Given the description of an element on the screen output the (x, y) to click on. 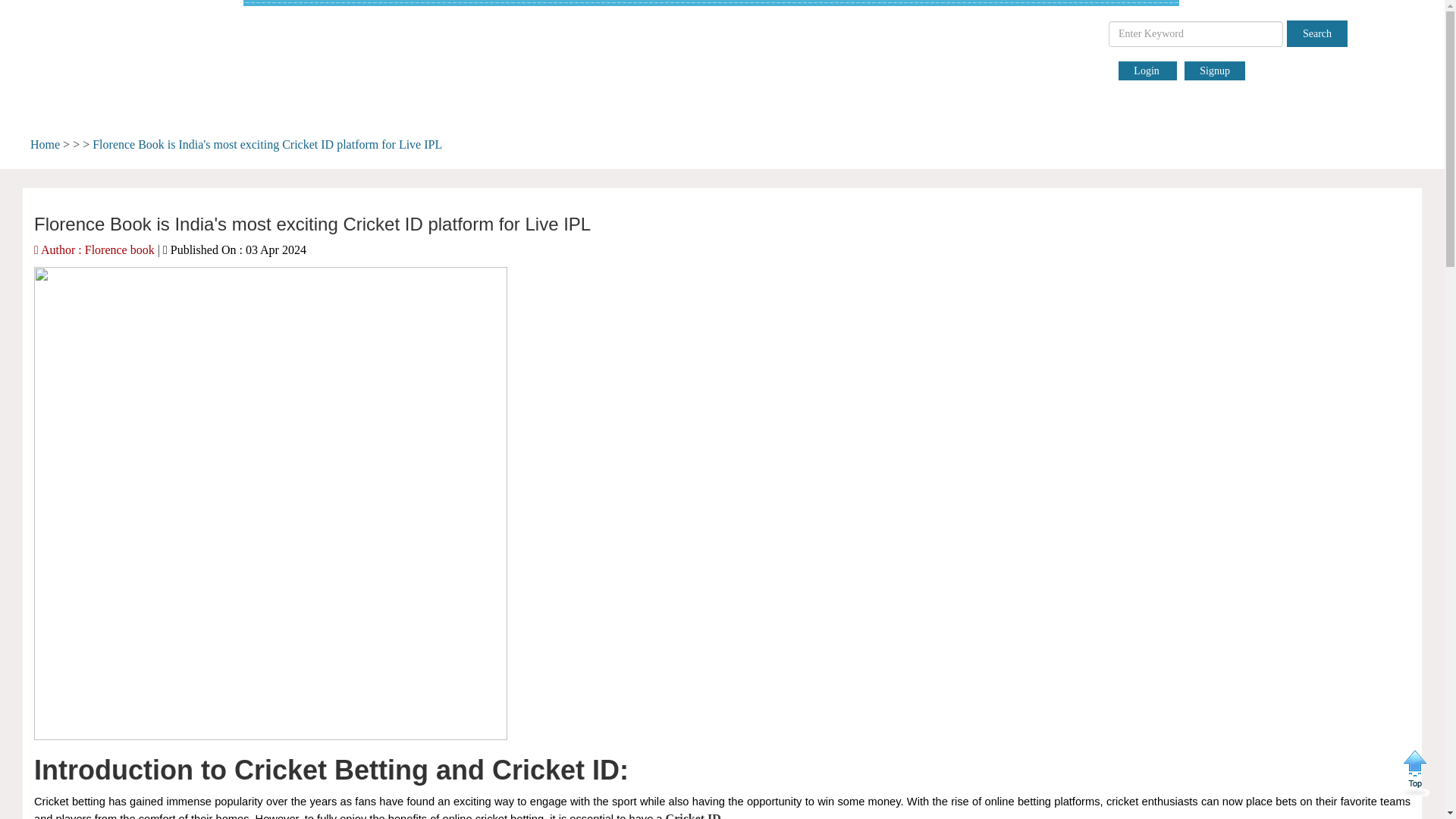
Search (1317, 33)
Login (1147, 70)
Signup (1214, 70)
Search (1317, 33)
Home (44, 144)
